Given the description of an element on the screen output the (x, y) to click on. 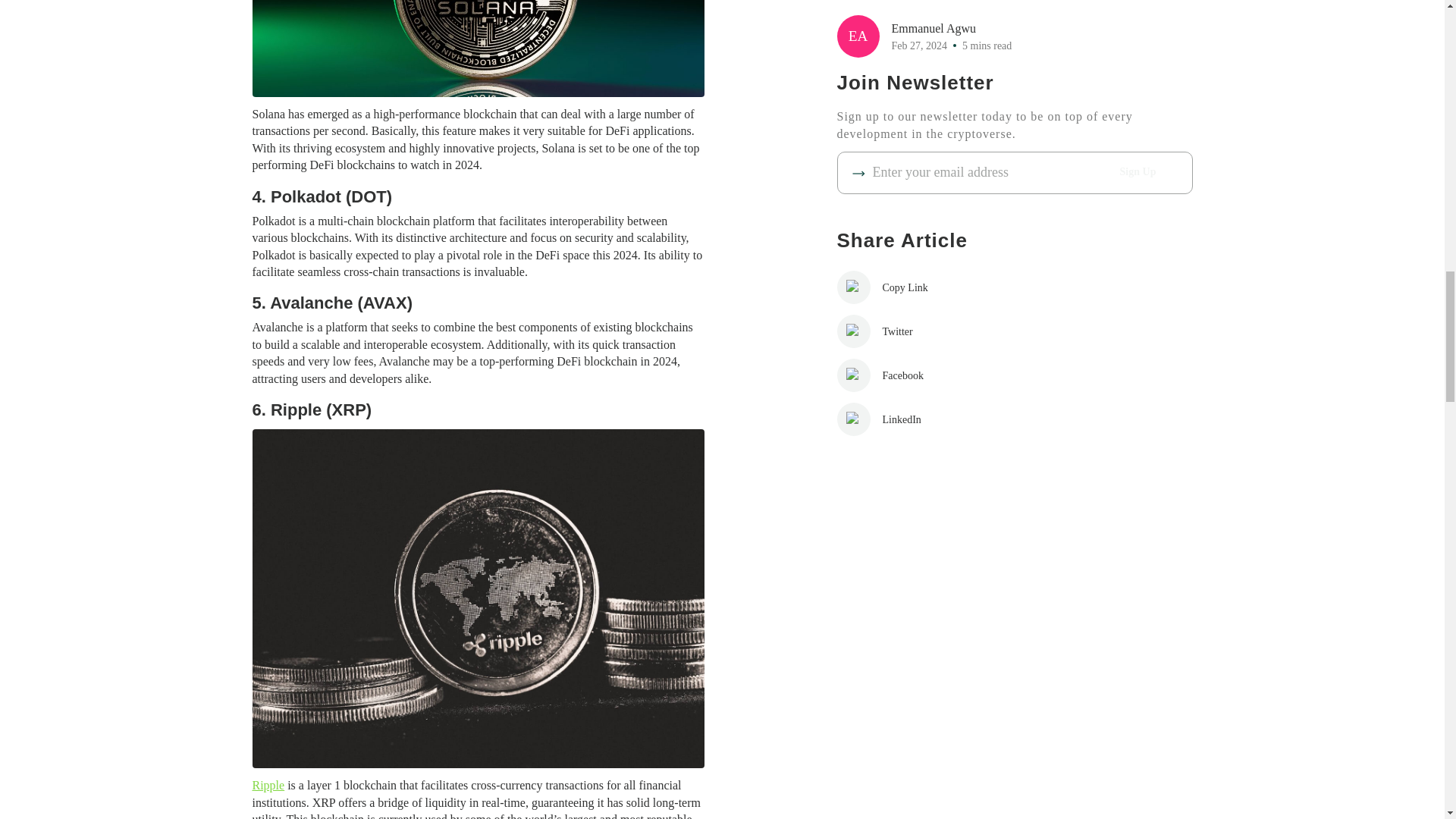
Ripple (267, 784)
